Given the description of an element on the screen output the (x, y) to click on. 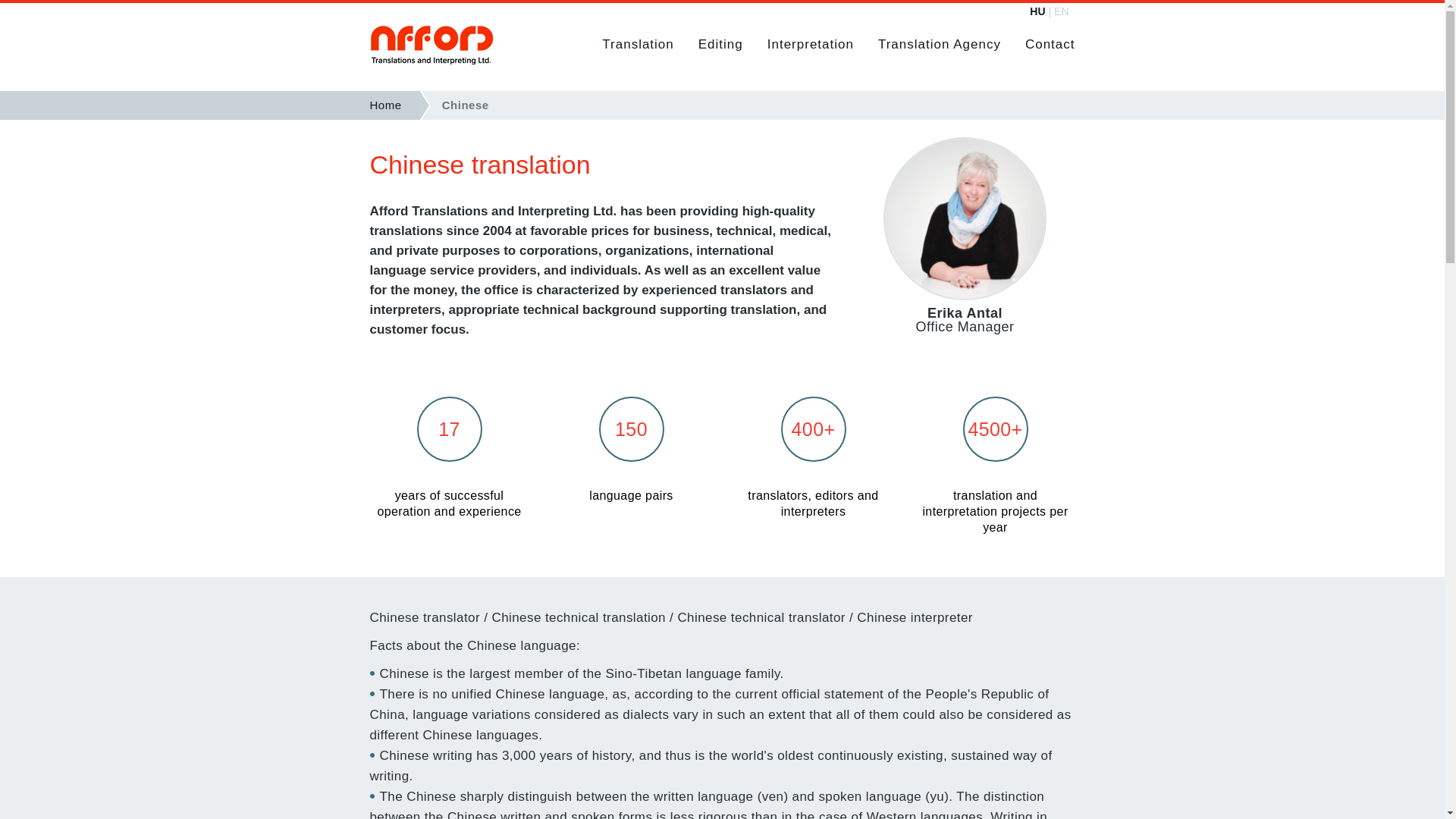
Translation Agency (939, 43)
Interpretation (810, 43)
Magyar (1037, 10)
Editing (720, 43)
Translation (637, 43)
HU (1037, 10)
